Given the description of an element on the screen output the (x, y) to click on. 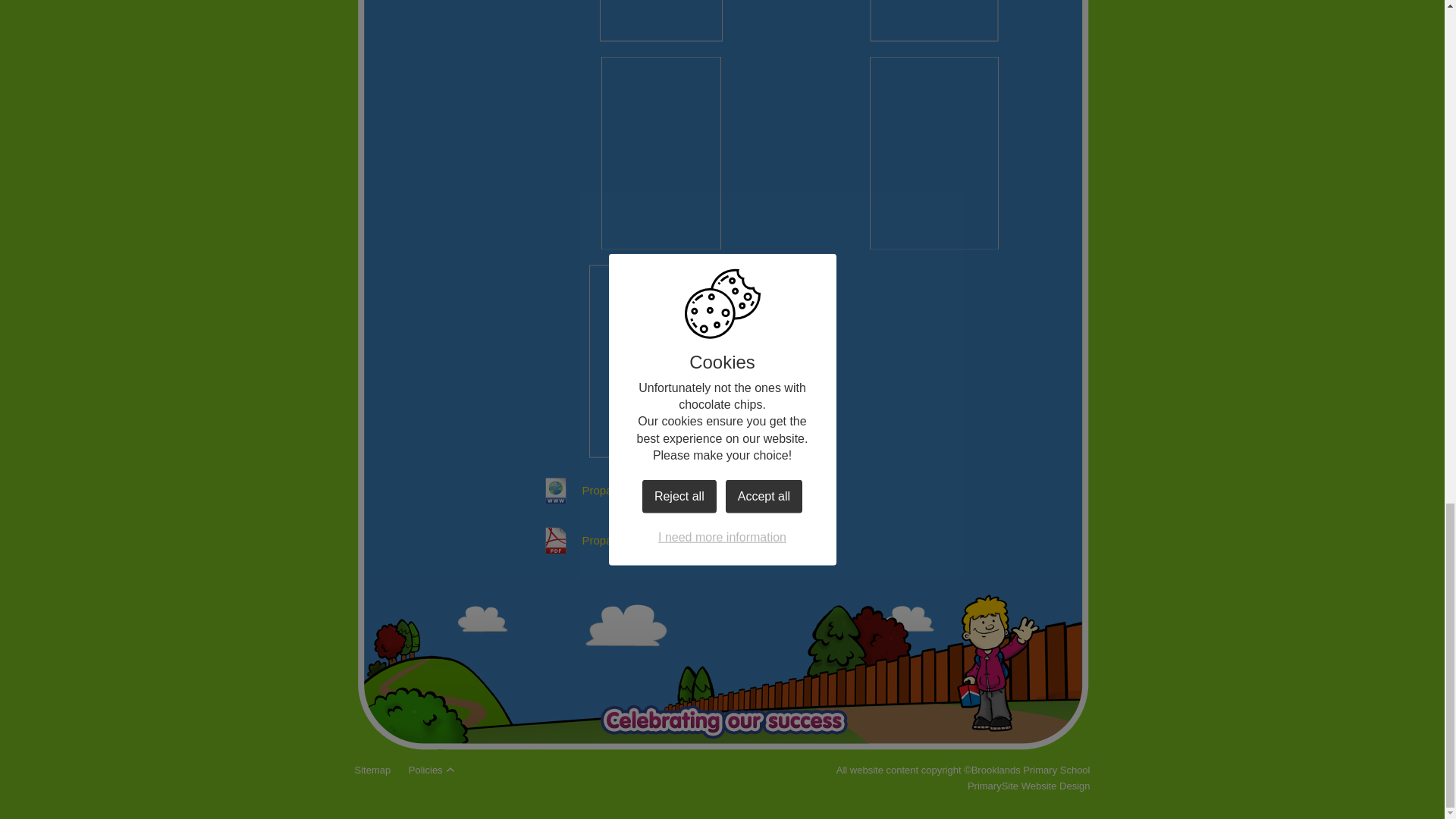
View large version of image (933, 20)
Propaganda During World War Two (646, 490)
View large version of image (933, 153)
View large version of image (661, 20)
View large version of image (661, 153)
View large version of image (661, 360)
Propaganda posters template.pdf (640, 540)
